Given the description of an element on the screen output the (x, y) to click on. 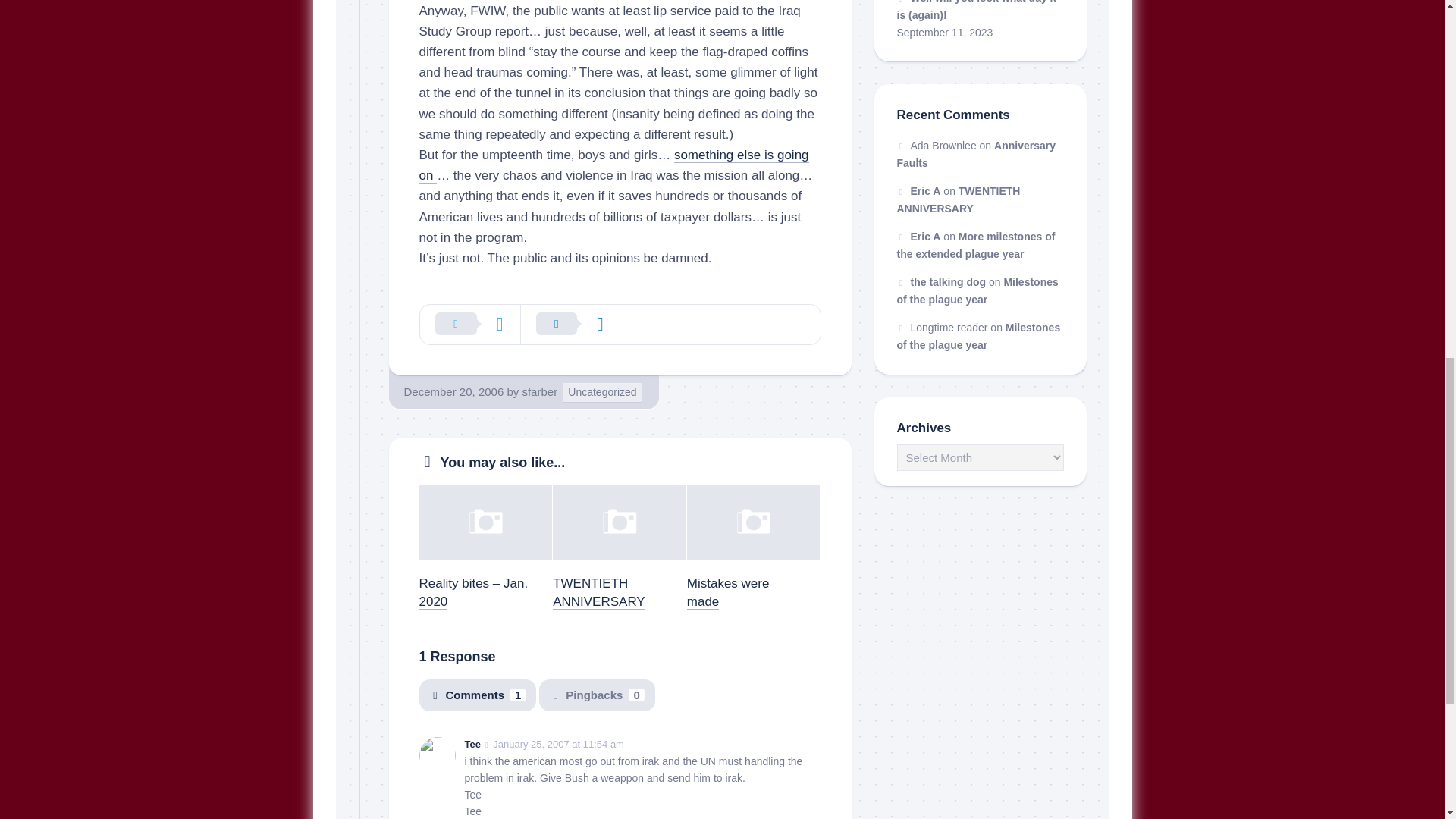
something else is going on (613, 165)
sfarber (539, 391)
Posts by sfarber (539, 391)
Uncategorized (602, 392)
